Given the description of an element on the screen output the (x, y) to click on. 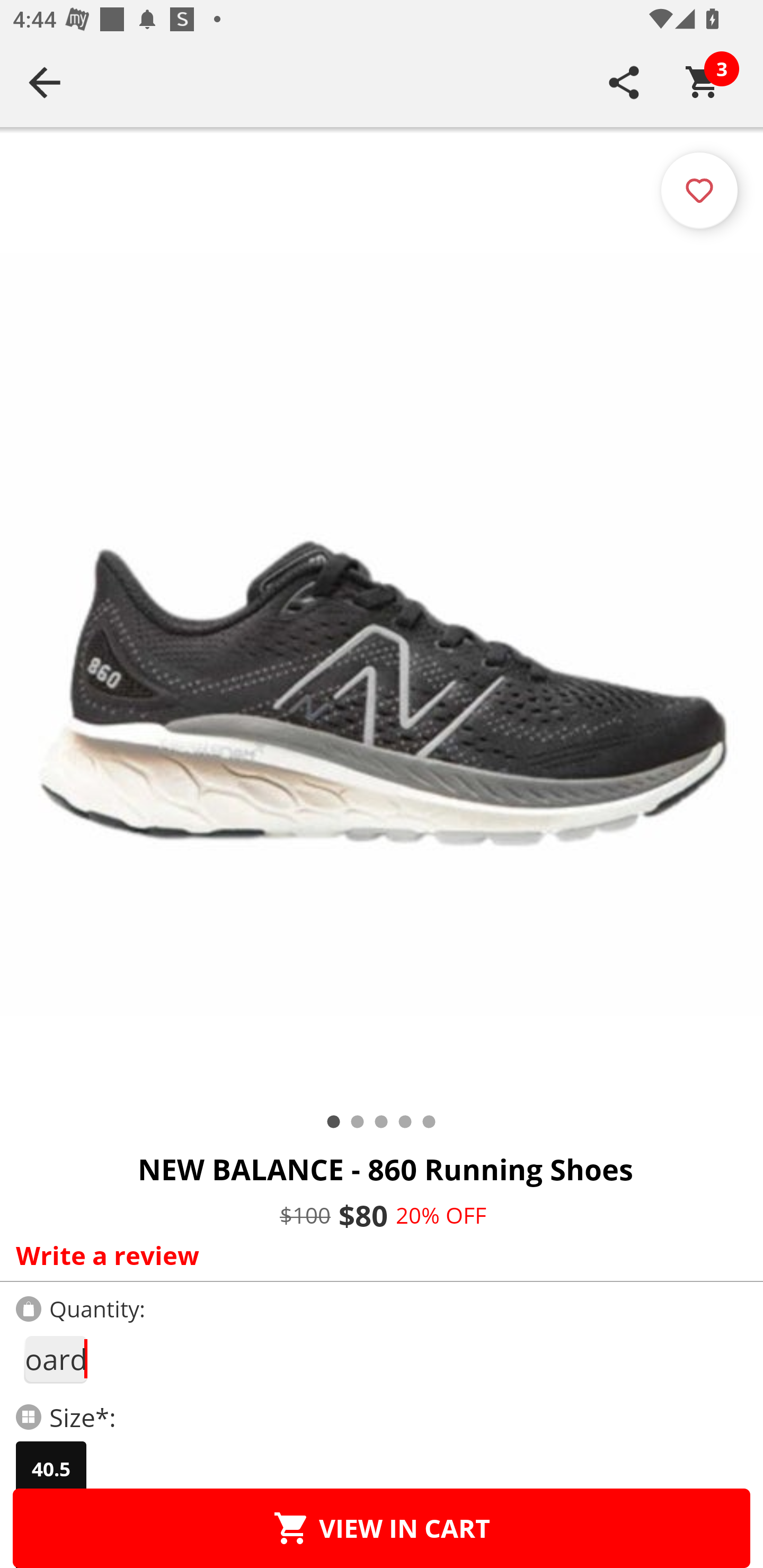
Navigate up (44, 82)
SHARE (623, 82)
Cart (703, 81)
Write a review (377, 1255)
1keyboard (55, 1358)
40.5 (51, 1468)
VIEW IN CART (381, 1528)
